Given the description of an element on the screen output the (x, y) to click on. 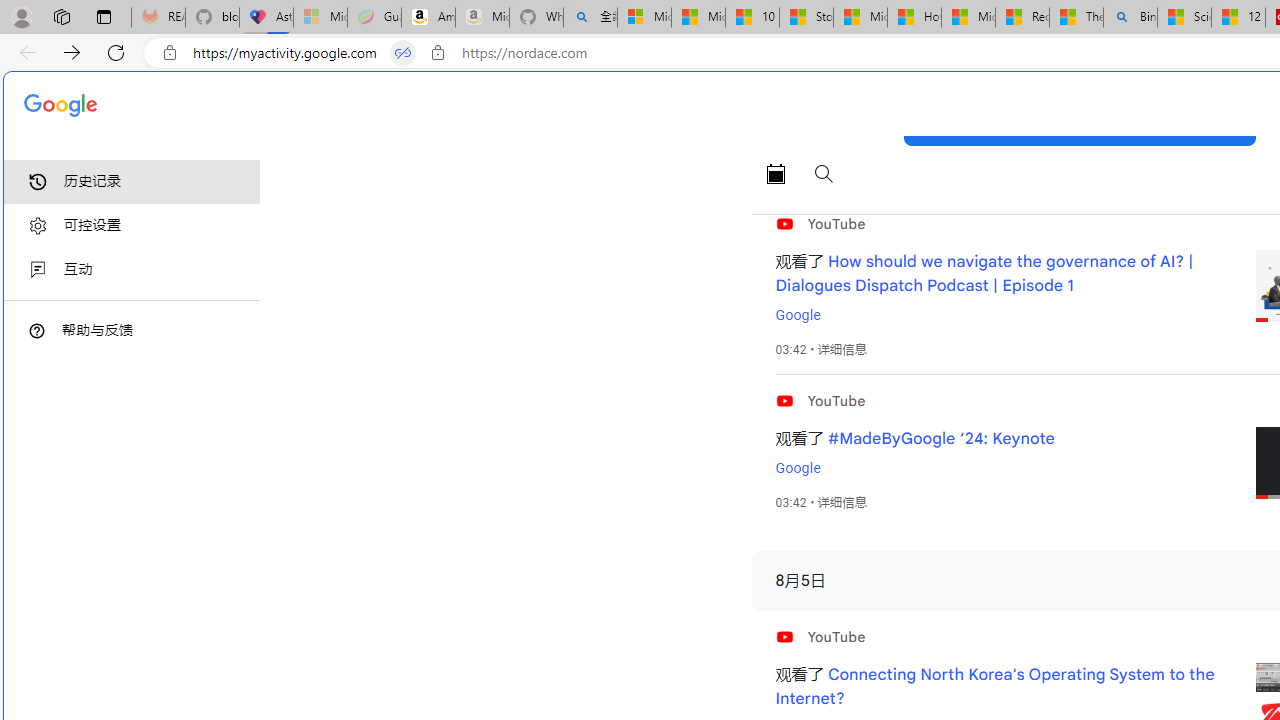
12 Popular Science Lies that Must be Corrected (1238, 17)
Google (797, 468)
Tabs in split screen (403, 53)
Microsoft-Report a Concern to Bing - Sleeping (320, 17)
